Given the description of an element on the screen output the (x, y) to click on. 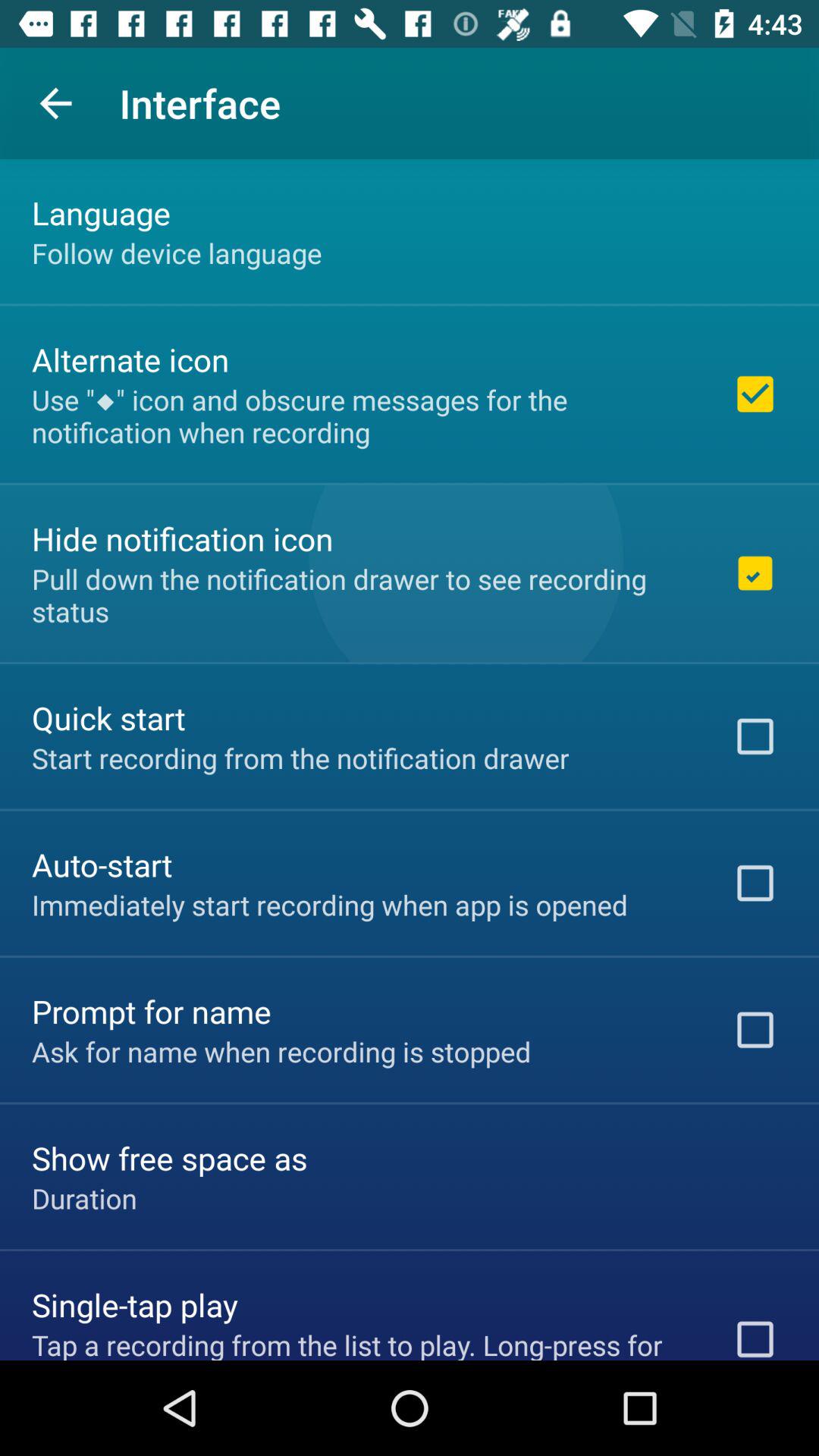
scroll to tap a recording icon (361, 1343)
